Given the description of an element on the screen output the (x, y) to click on. 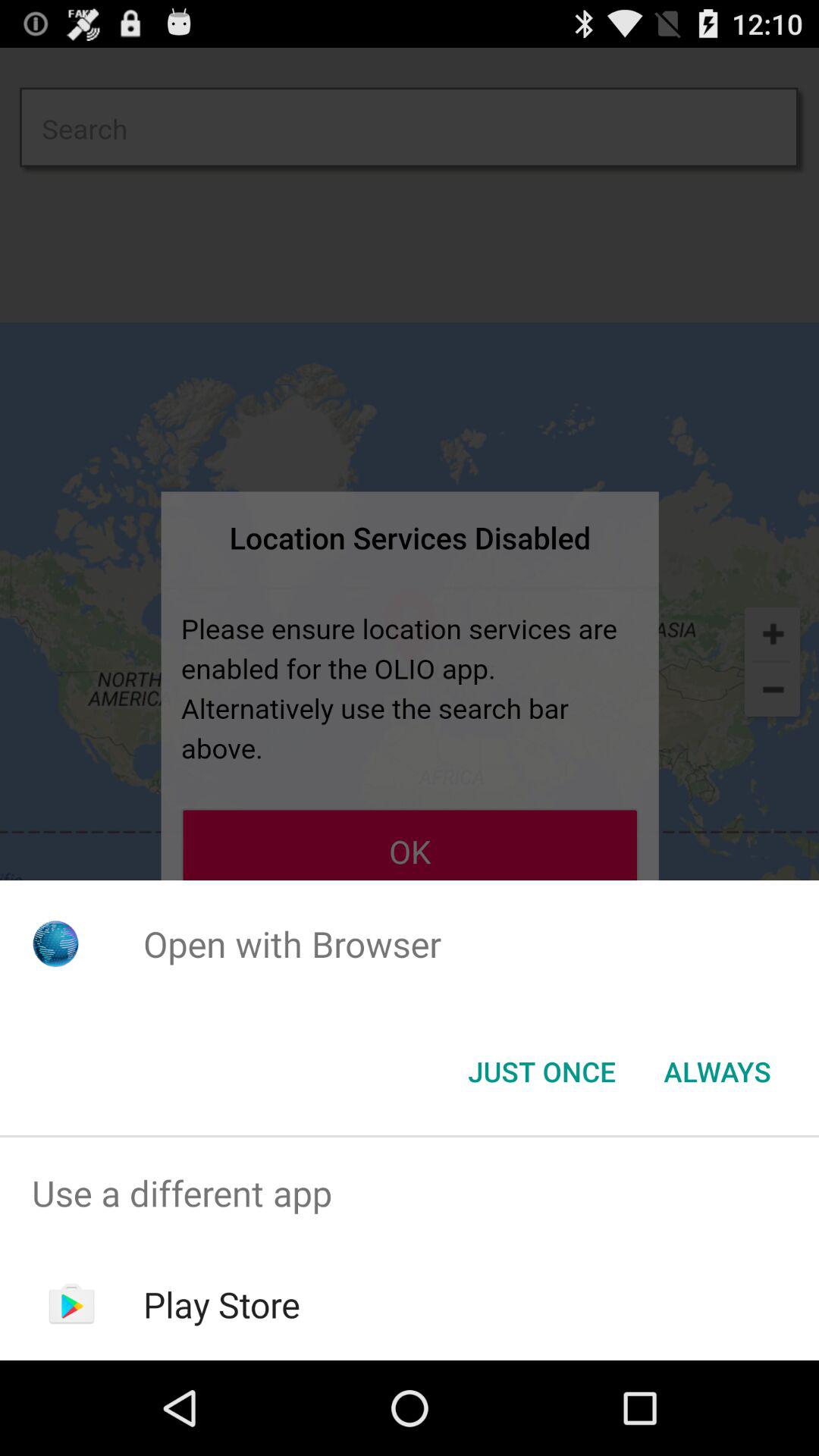
press item below the open with browser icon (717, 1071)
